Given the description of an element on the screen output the (x, y) to click on. 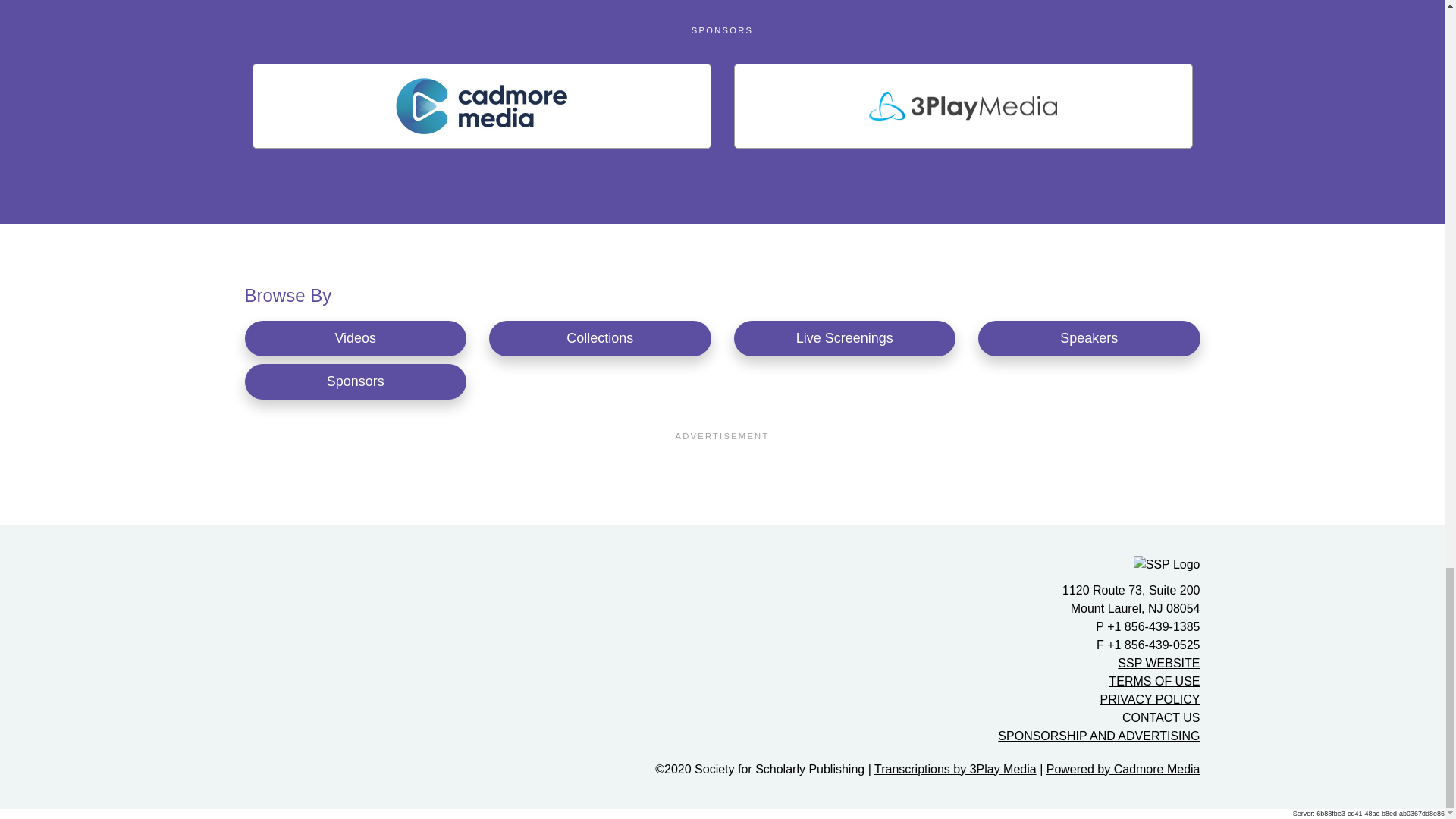
Videos (354, 338)
Speakers (1088, 338)
Collections (600, 338)
Live Screenings (844, 338)
Sponsors (354, 381)
